Given the description of an element on the screen output the (x, y) to click on. 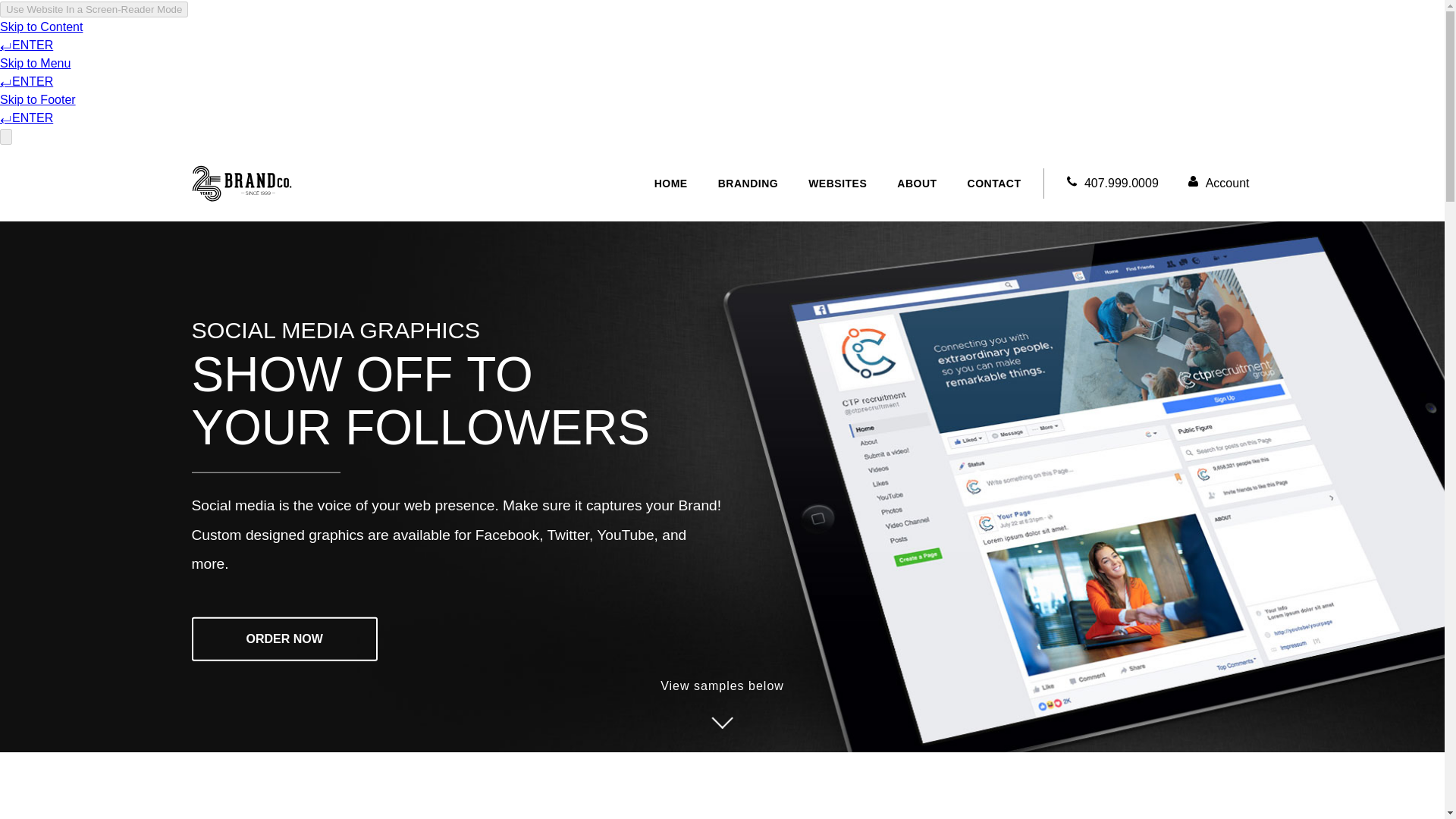
407.999.0009 (1110, 183)
ORDER NOW (283, 638)
WEBSITES (837, 183)
Account (1216, 183)
ABOUT (917, 183)
CONTACT (994, 183)
BRANDING (748, 183)
